Given the description of an element on the screen output the (x, y) to click on. 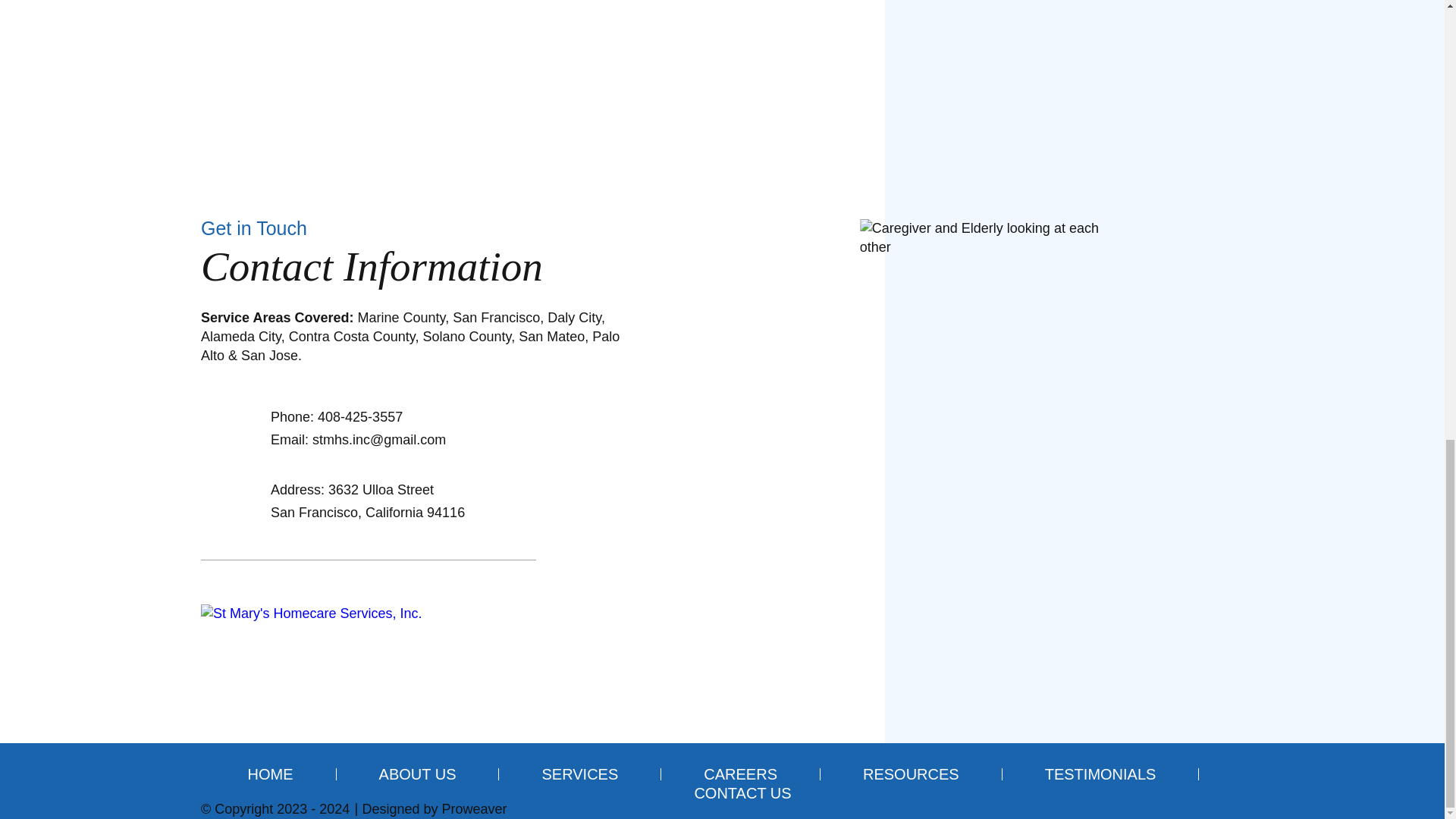
RESOURCES (911, 773)
TESTIMONIALS (1100, 773)
SERVICES (579, 773)
Designed by (399, 808)
Proweaver (473, 808)
CONTACT US (721, 793)
HOME (290, 773)
CAREERS (740, 773)
ABOUT US (417, 773)
